Given the description of an element on the screen output the (x, y) to click on. 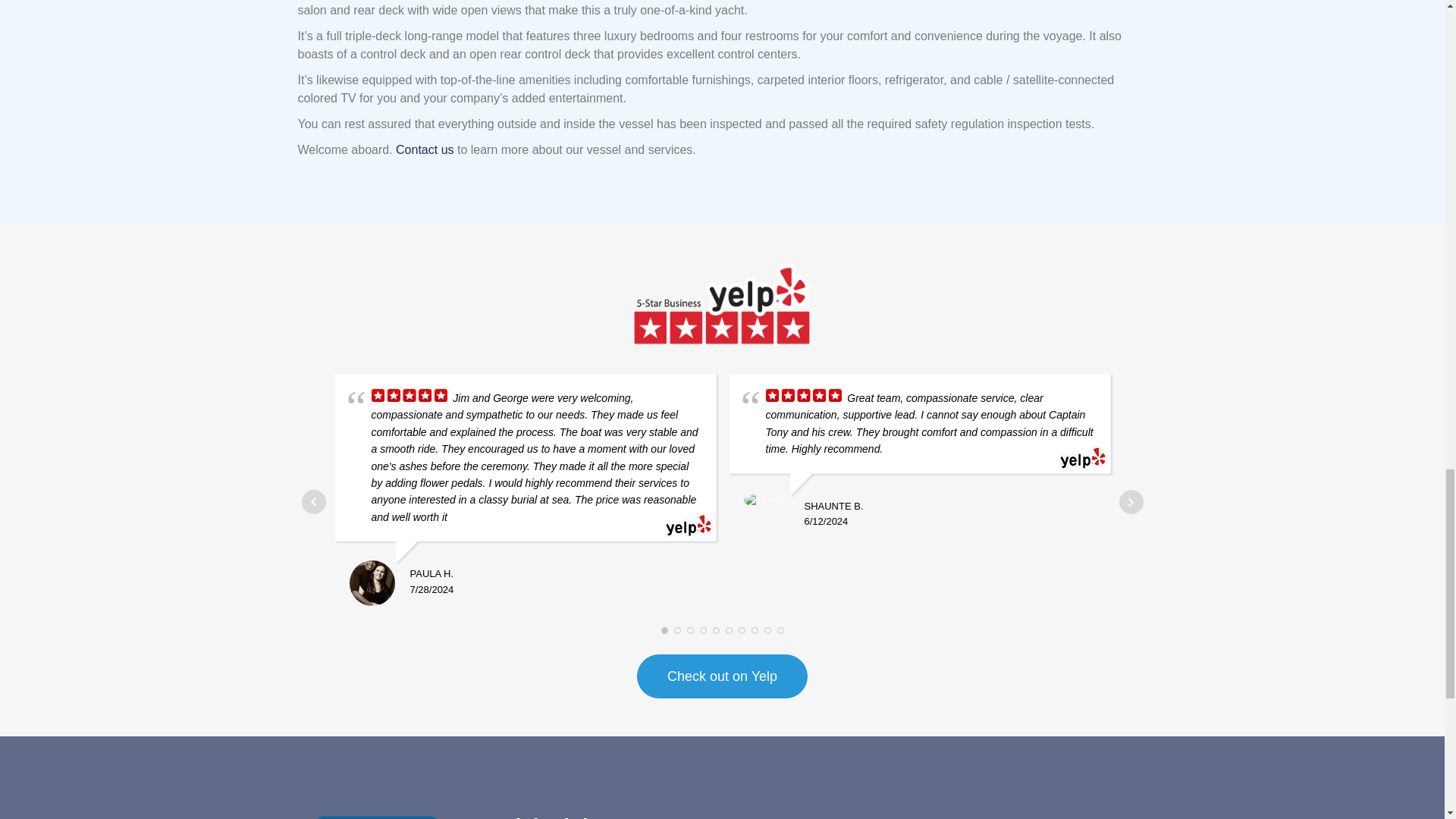
Contact us (424, 149)
